Given the description of an element on the screen output the (x, y) to click on. 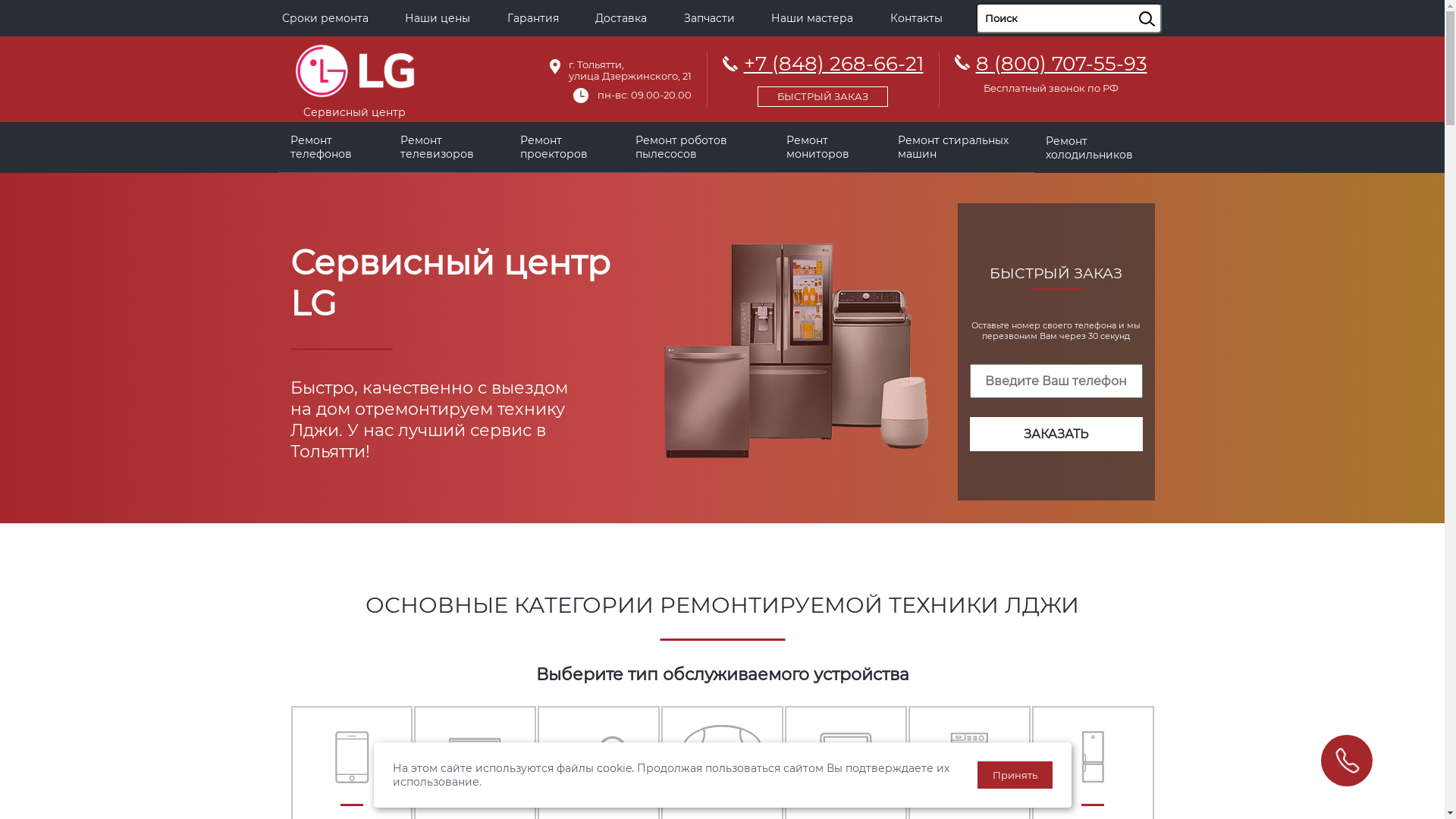
sisea.search Element type: text (1165, 3)
8 (800) 707-55-93 Element type: text (1060, 63)
+7 (848) 268-66-21 Element type: text (821, 77)
